Given the description of an element on the screen output the (x, y) to click on. 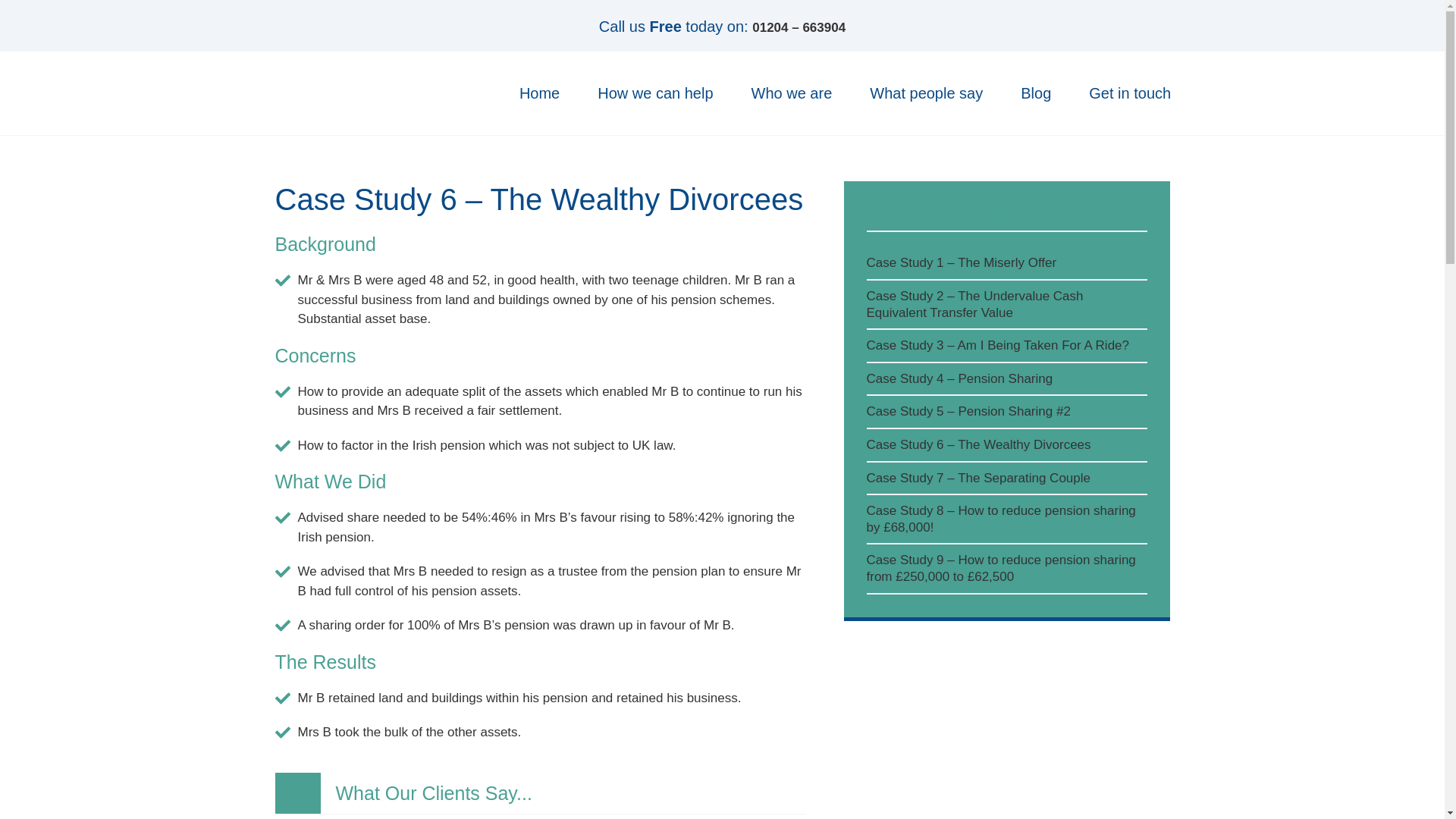
What people say (925, 93)
How we can help (655, 93)
Home (539, 93)
Get in touch (1129, 93)
Who we are (791, 93)
